Given the description of an element on the screen output the (x, y) to click on. 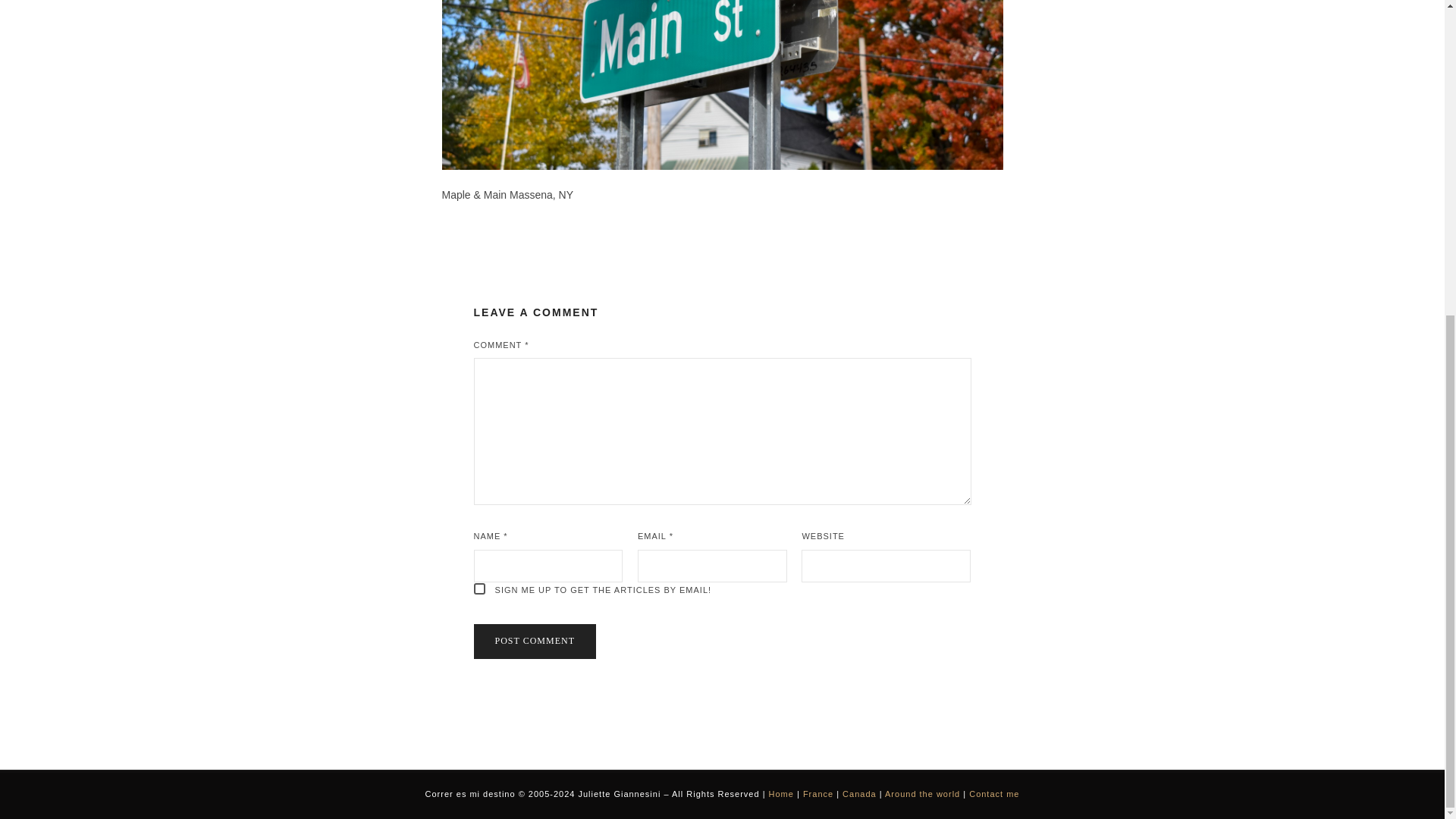
Post Comment (534, 641)
1 (478, 588)
